Given the description of an element on the screen output the (x, y) to click on. 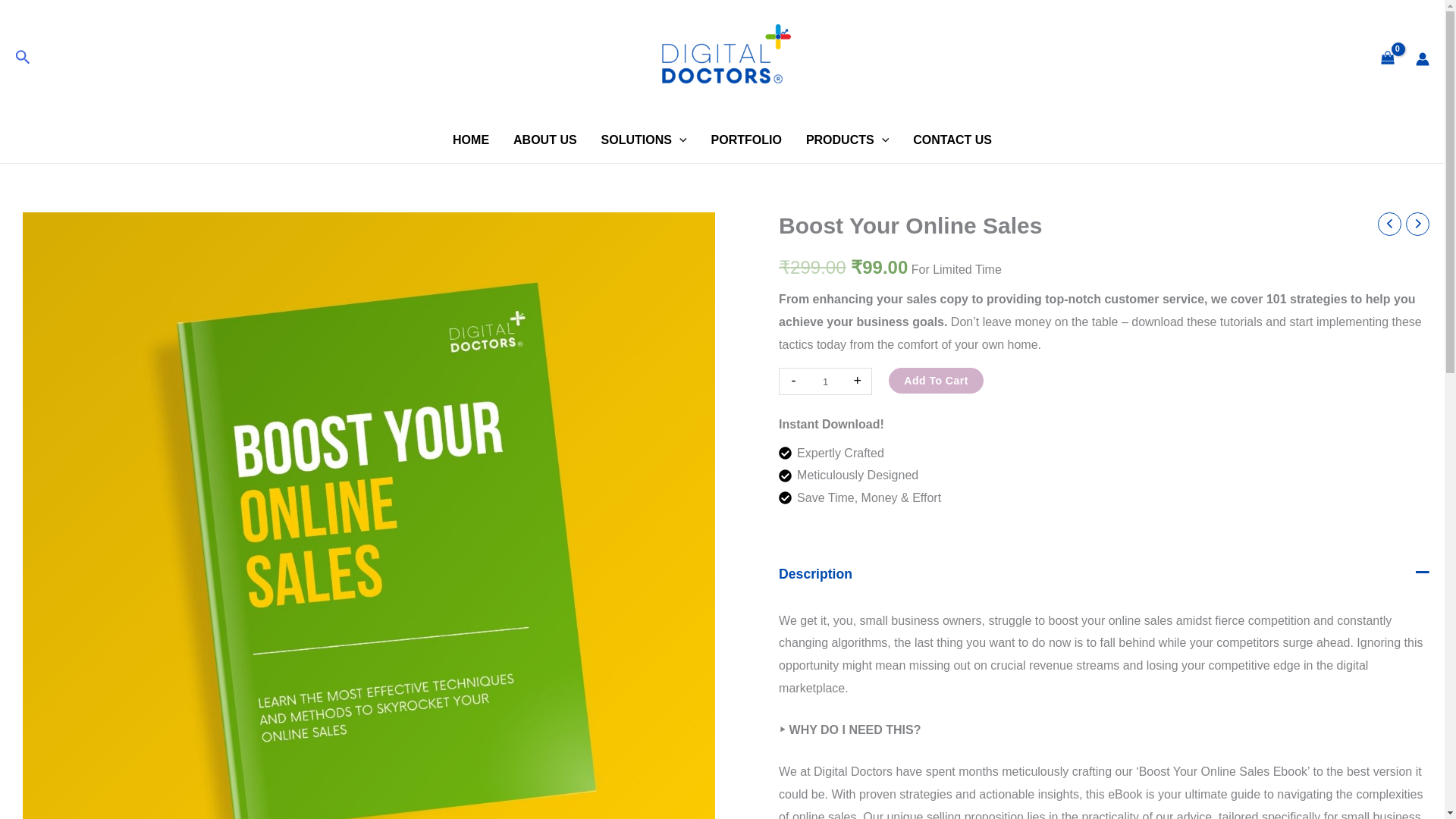
ABOUT US (544, 139)
1 (825, 380)
PORTFOLIO (745, 139)
PRODUCTS (847, 139)
HOME (470, 139)
SOLUTIONS (643, 139)
CONTACT US (952, 139)
